Given the description of an element on the screen output the (x, y) to click on. 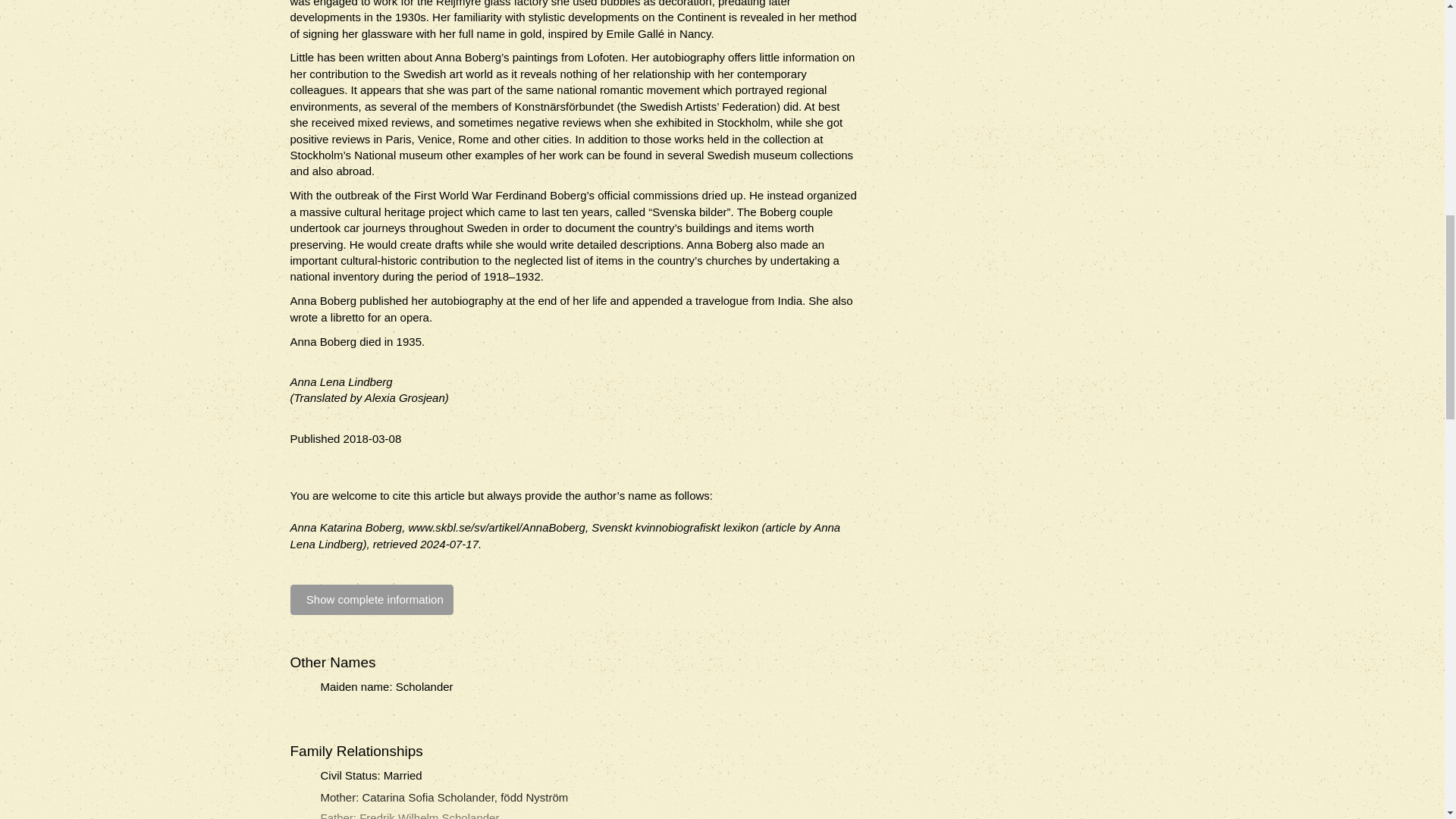
Anna Lena Lindberg (340, 381)
  Show complete information (370, 599)
